Given the description of an element on the screen output the (x, y) to click on. 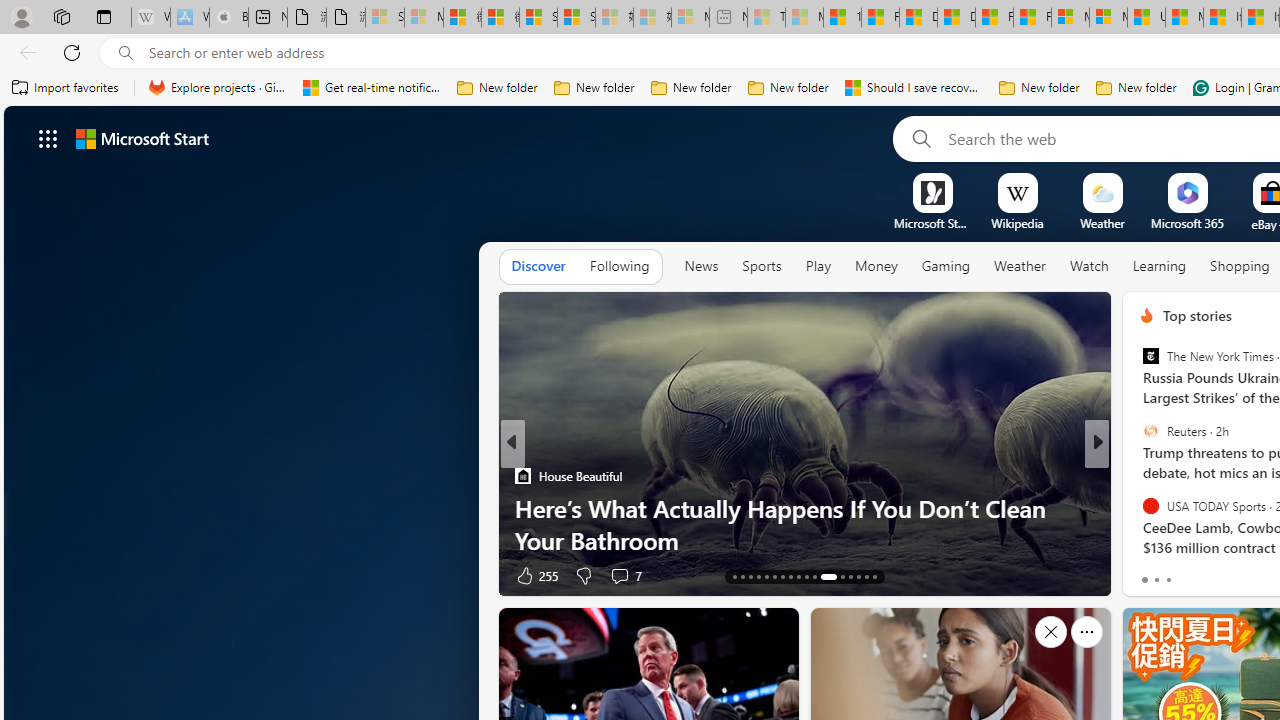
15 Like (1149, 574)
View comments 460 Comment (1234, 575)
AutomationID: tab-18 (774, 576)
AutomationID: tab-16 (757, 576)
Reuters (1149, 431)
AutomationID: tab-25 (842, 576)
Search icon (125, 53)
AutomationID: tab-19 (782, 576)
